Given the description of an element on the screen output the (x, y) to click on. 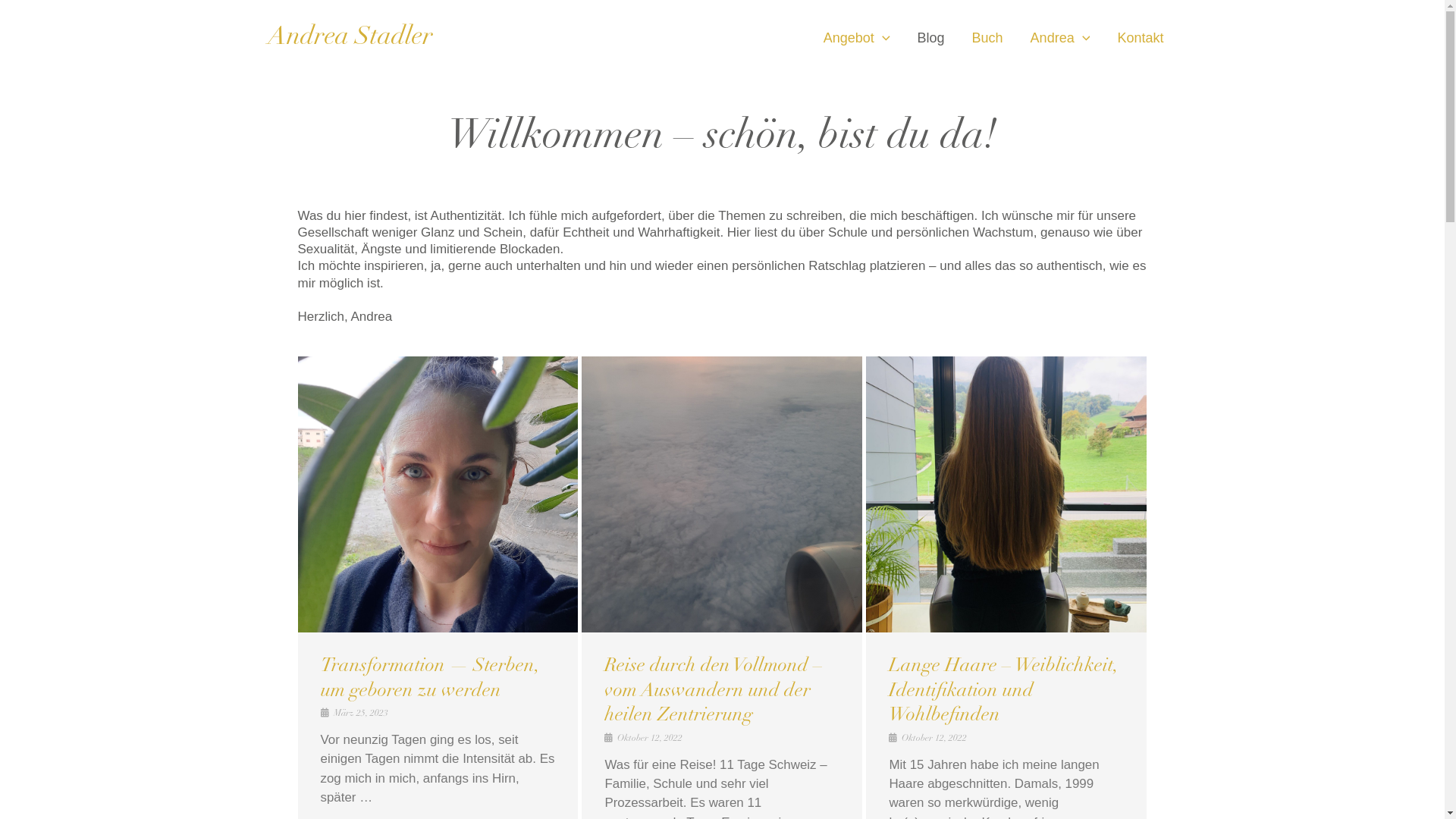
Kontakt Element type: text (1139, 37)
Andrea Element type: text (1060, 37)
Angebot Element type: text (856, 37)
Blog Element type: text (930, 37)
Andrea Stadler Element type: text (349, 37)
Buch Element type: text (987, 37)
